Given the description of an element on the screen output the (x, y) to click on. 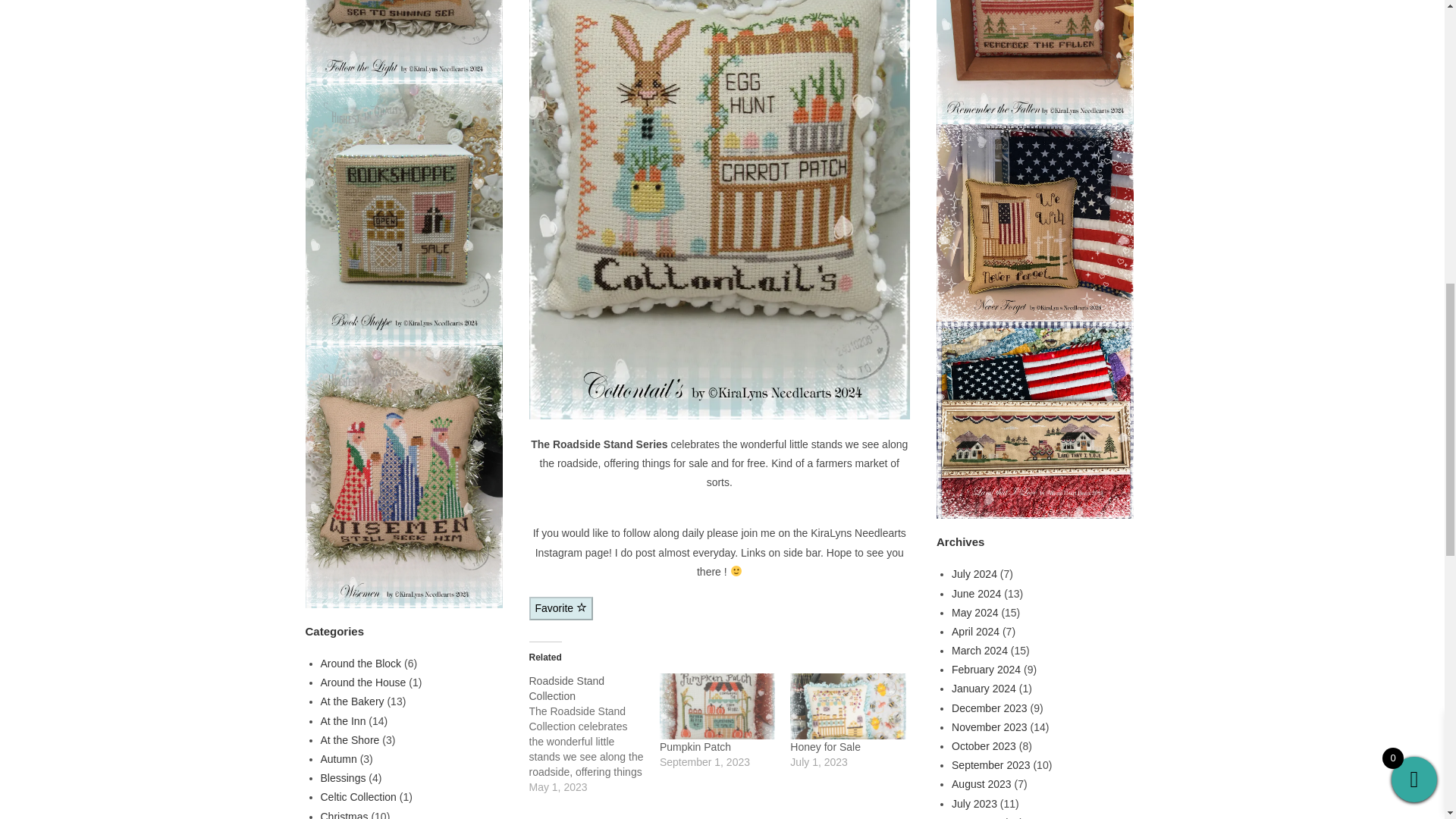
Honey for Sale (825, 746)
Pumpkin Patch (694, 746)
Roadside Stand Collection (594, 733)
Pumpkin Patch (716, 706)
Honey for Sale (847, 706)
Roadside Stand Collection (567, 687)
